Given the description of an element on the screen output the (x, y) to click on. 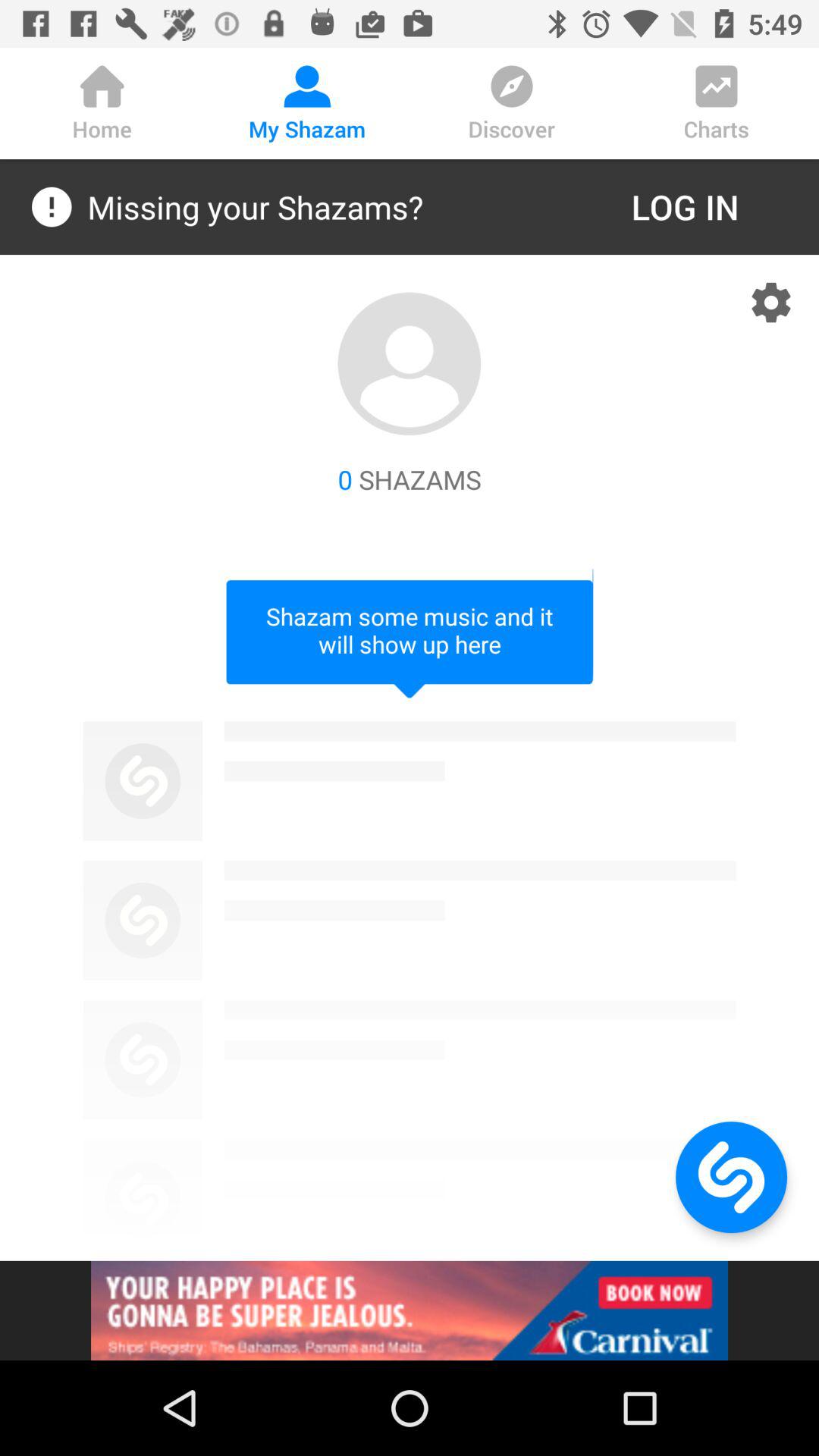
look at the settings (771, 302)
